Given the description of an element on the screen output the (x, y) to click on. 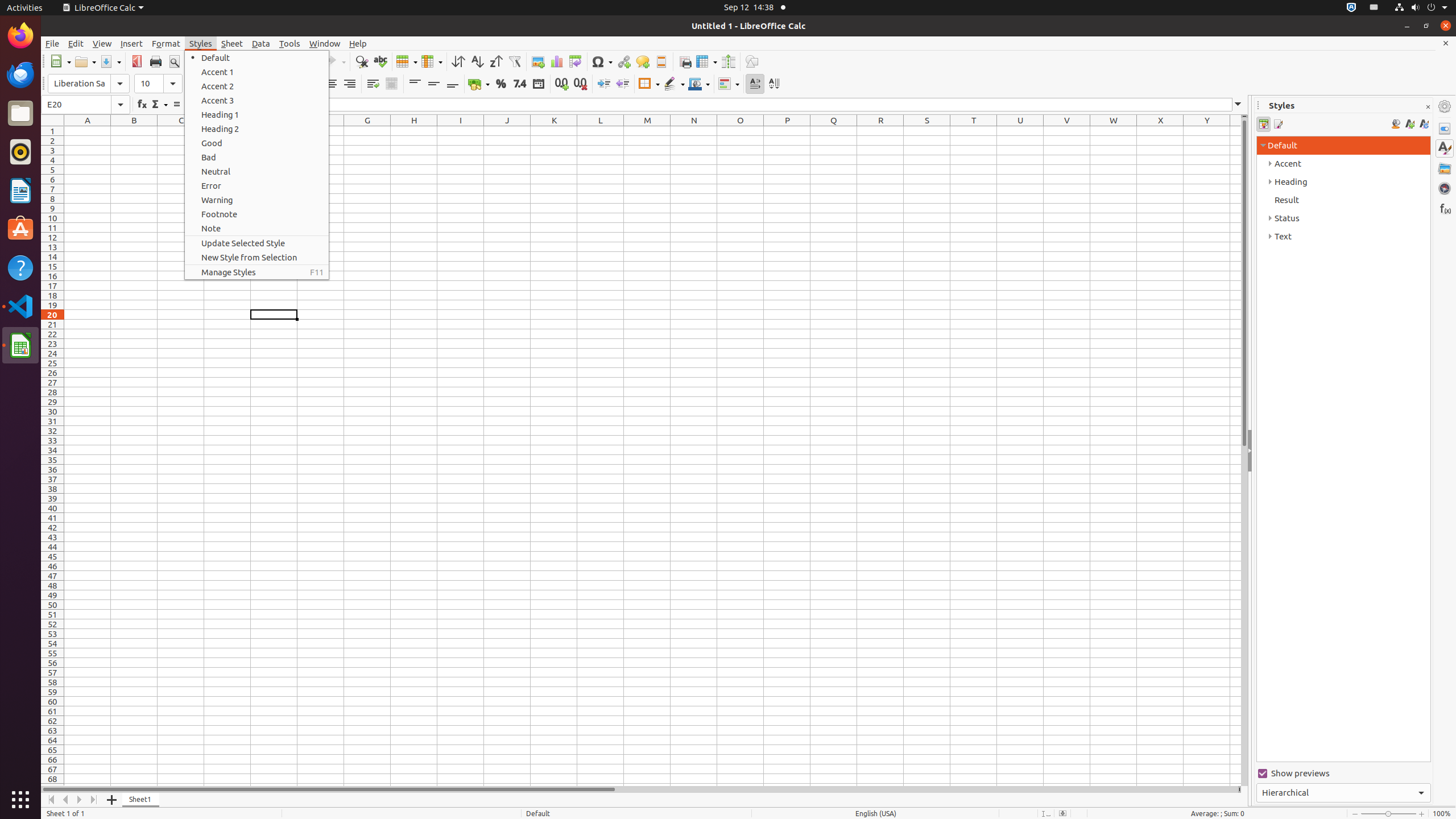
Show previews Element type: check-box (1343, 773)
Image Element type: push-button (537, 61)
Move Left Element type: push-button (65, 799)
Symbol Element type: push-button (601, 61)
Find & Replace Element type: toggle-button (361, 61)
